Given the description of an element on the screen output the (x, y) to click on. 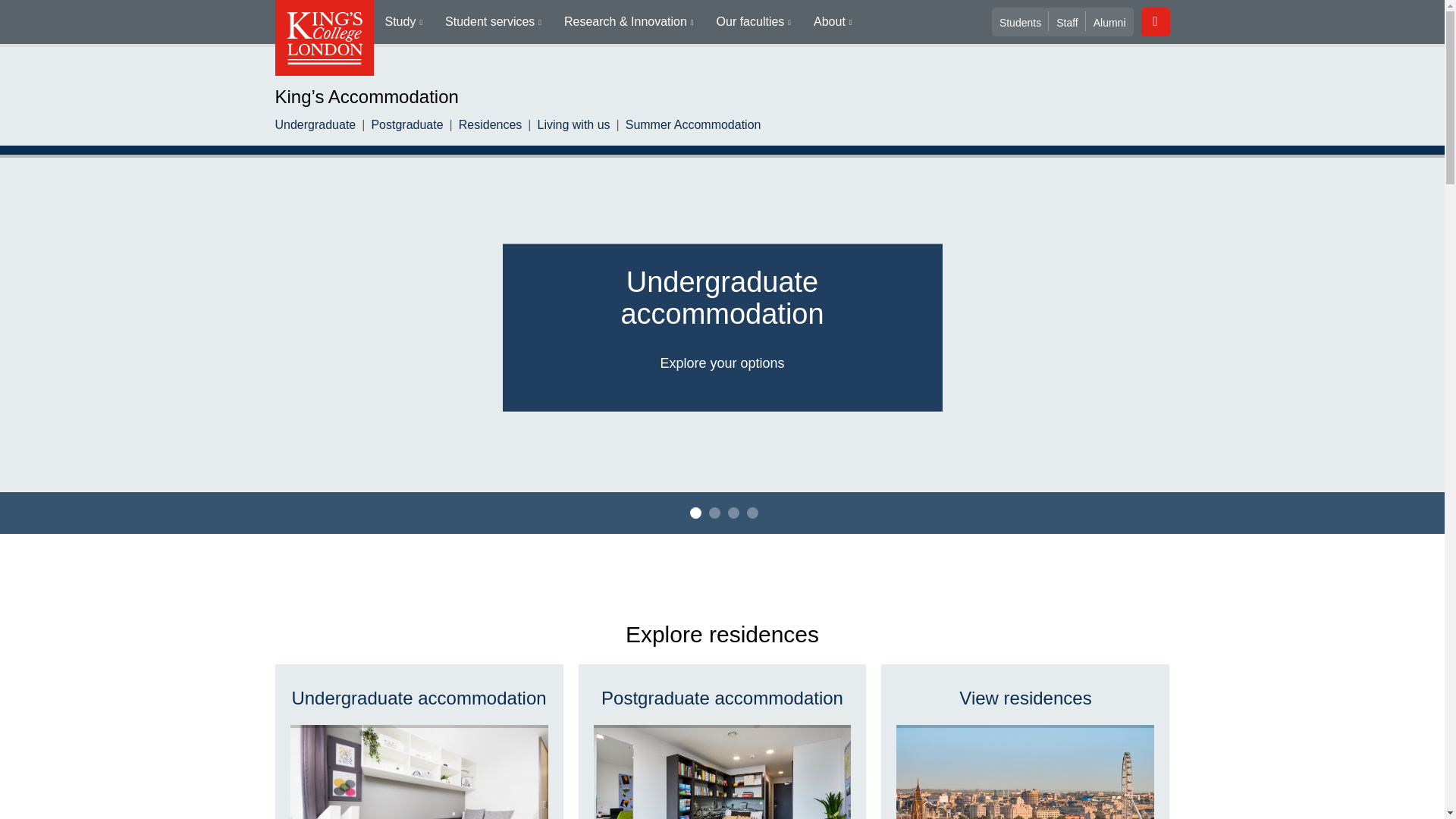
Student services (493, 22)
Student services (493, 22)
King's College London (323, 38)
Our faculties (753, 22)
Study (402, 22)
Study (402, 22)
King's College London - Back to homepage (323, 38)
